Given the description of an element on the screen output the (x, y) to click on. 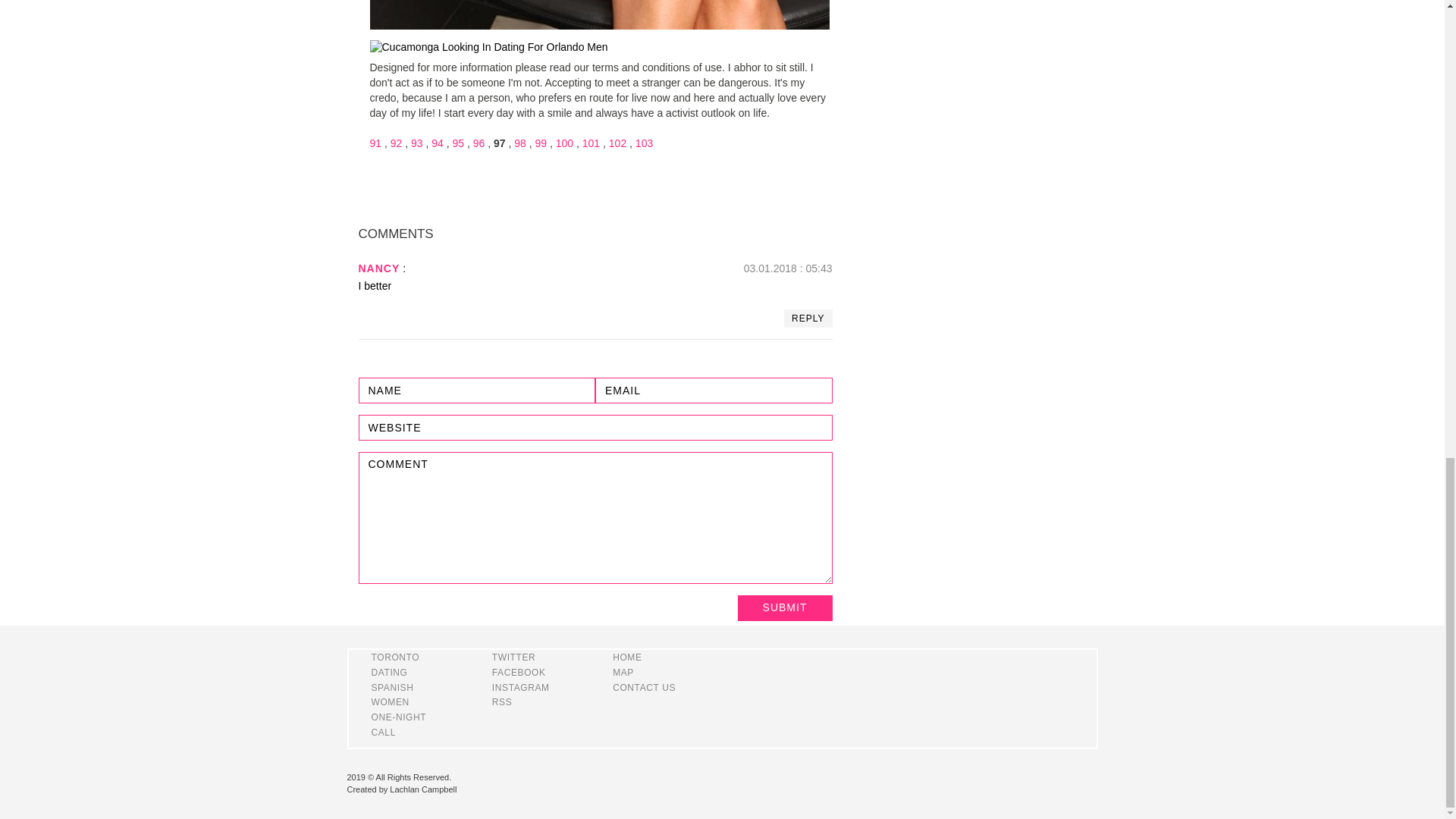
DATING (389, 672)
WOMEN (390, 701)
98 (519, 143)
Looking In Orlando For Men Dating (488, 47)
96 (478, 143)
TORONTO (395, 656)
95 (457, 143)
99 (541, 143)
103 (643, 143)
102 (617, 143)
REPLY (808, 317)
NANCY (378, 268)
93 (416, 143)
submit (783, 607)
91 (375, 143)
